Given the description of an element on the screen output the (x, y) to click on. 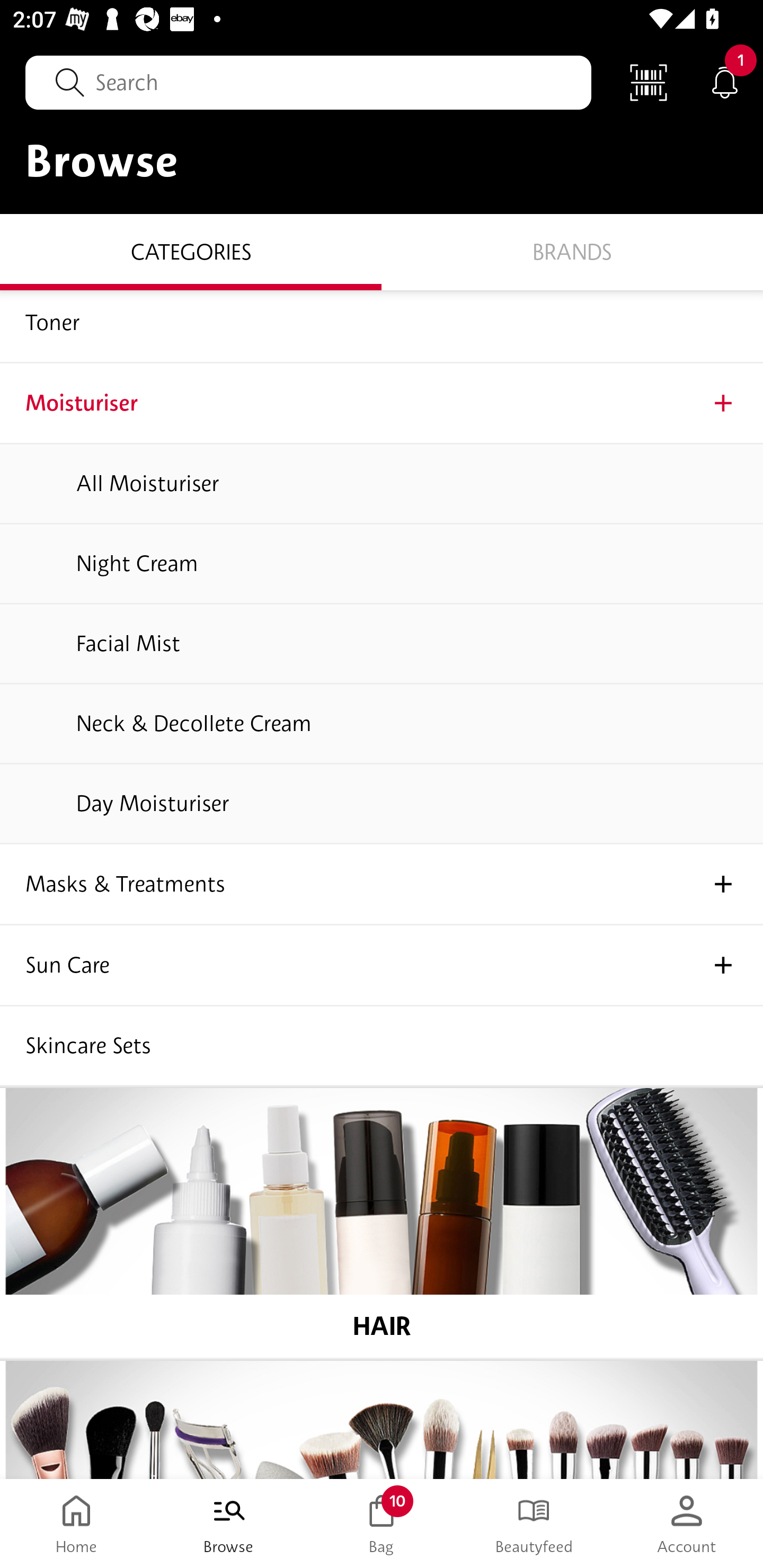
Scan Code (648, 81)
Notifications (724, 81)
Search (308, 81)
Brands BRANDS (572, 251)
Toner (381, 326)
All Moisturiser (381, 483)
Night Cream (381, 563)
Facial Mist (381, 643)
Neck & Decollete Cream (381, 724)
Day Moisturiser (381, 805)
Masks & Treatments (381, 885)
Sun Care (381, 965)
Skincare Sets (381, 1046)
HAIR (381, 1223)
Home (76, 1523)
Bag 10 Bag (381, 1523)
Beautyfeed (533, 1523)
Account (686, 1523)
